Given the description of an element on the screen output the (x, y) to click on. 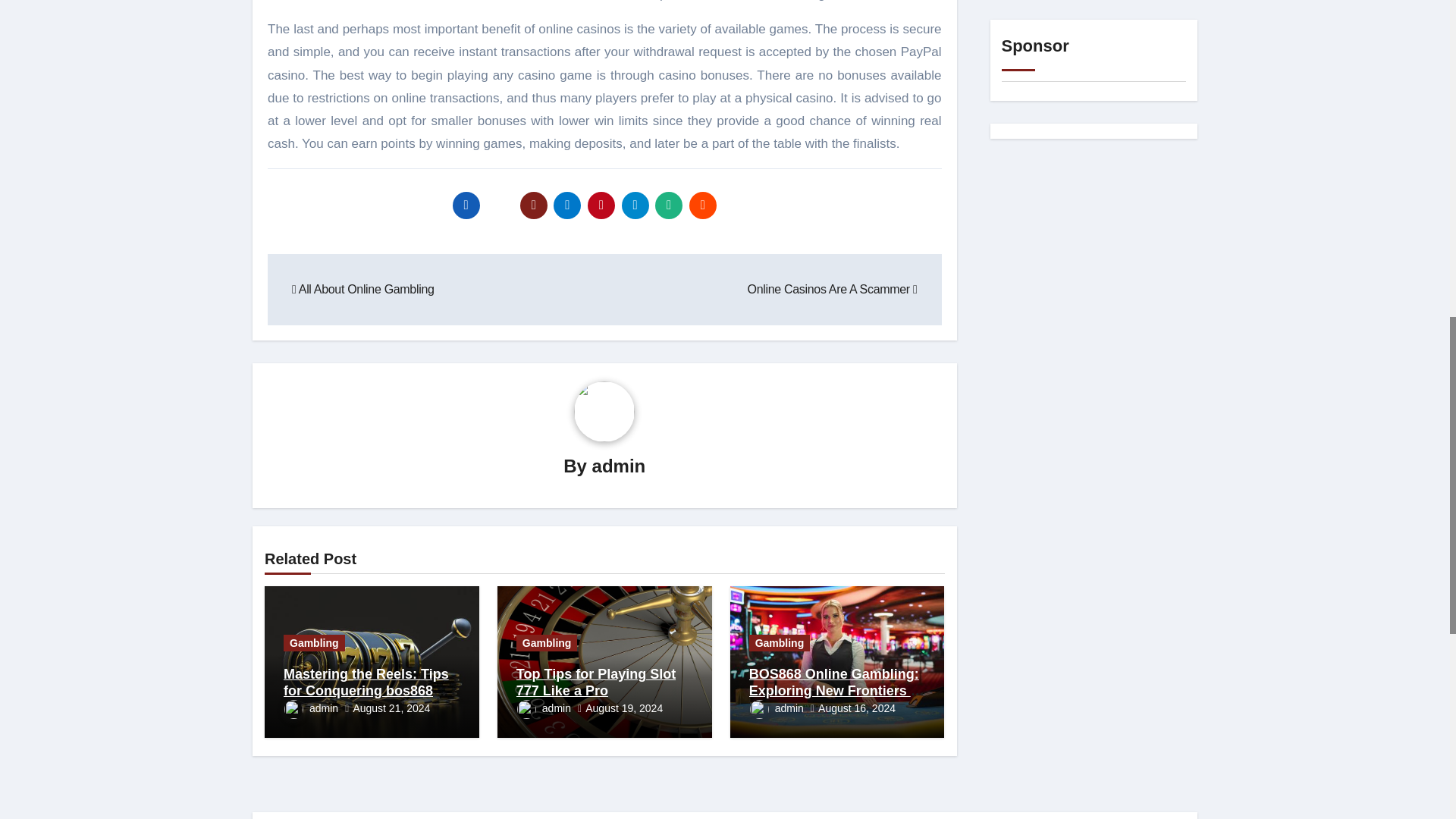
Gambling (314, 642)
All About Online Gambling (362, 288)
Permalink to: Top Tips for Playing Slot 777 Like a Pro (595, 682)
Online Casinos Are A Scammer (832, 288)
admin (619, 465)
